Given the description of an element on the screen output the (x, y) to click on. 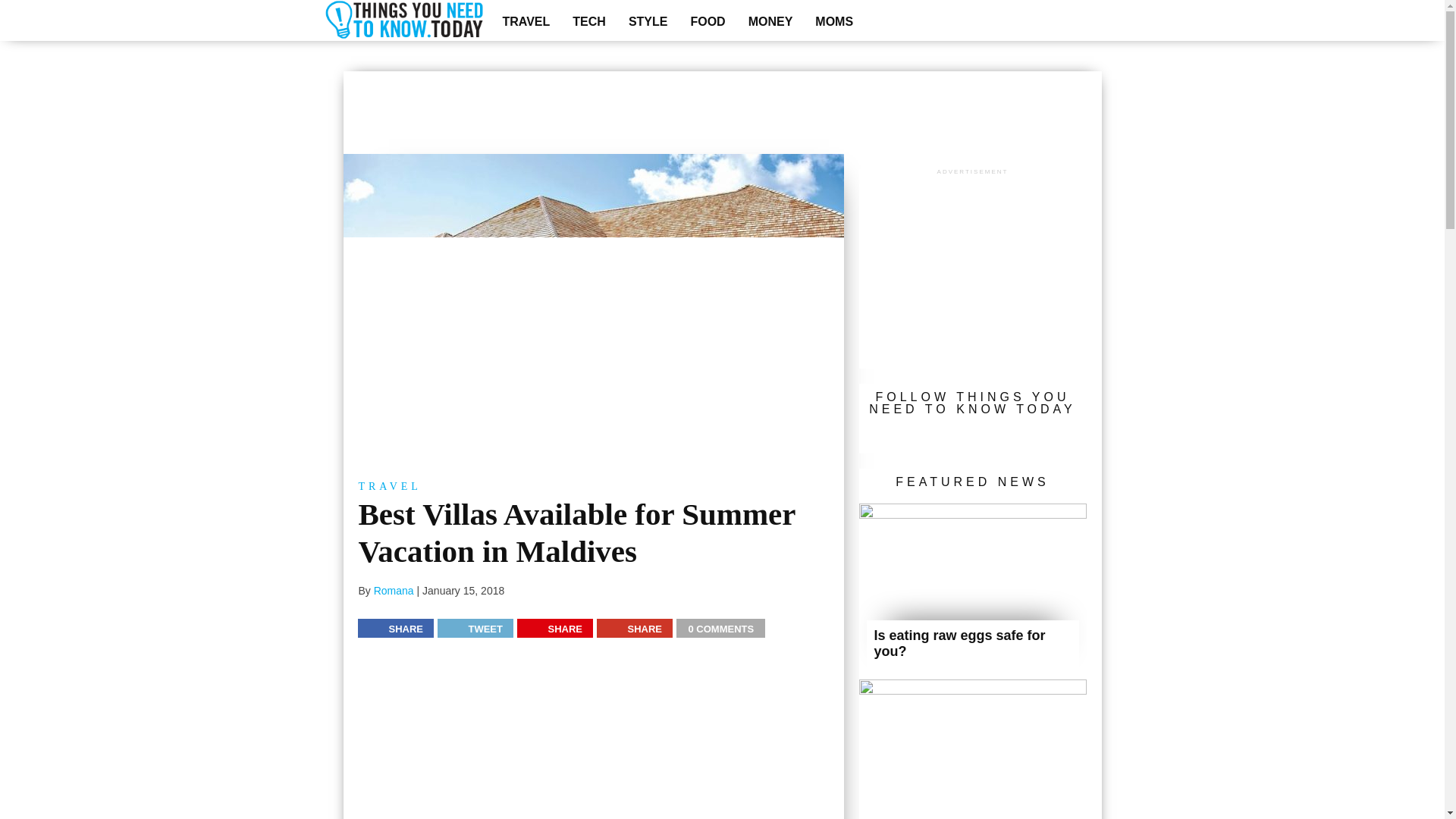
TRAVEL (527, 21)
Posts by Romana (393, 590)
FOOD (707, 21)
STYLE (648, 21)
Romana (393, 590)
MOMS (833, 21)
MONEY (770, 21)
TECH (588, 21)
